Given the description of an element on the screen output the (x, y) to click on. 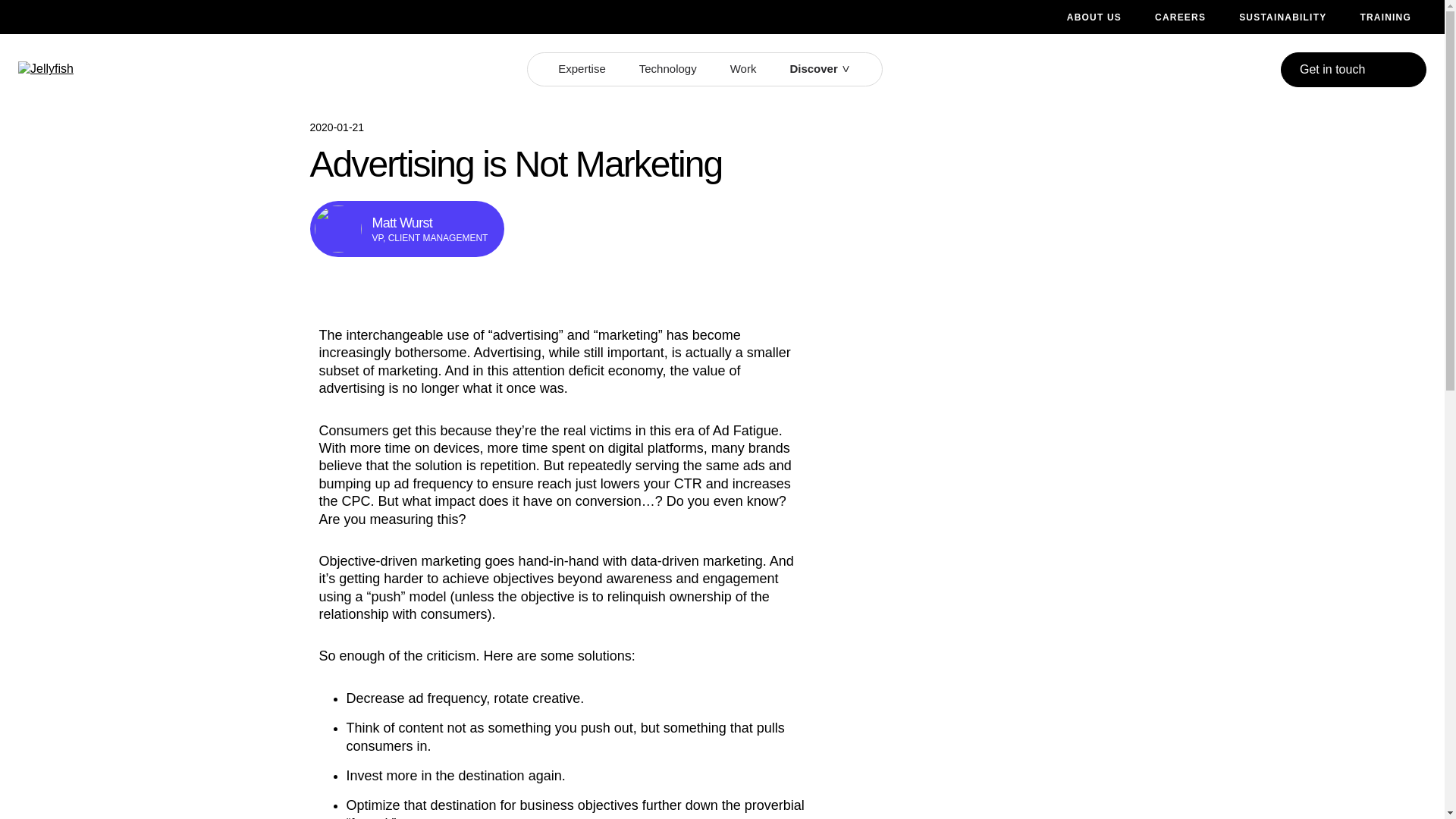
Technology (668, 69)
Work (743, 69)
Get in touch (1353, 69)
TRAINING (1384, 18)
SUSTAINABILITY (1282, 18)
ABOUT US (1094, 18)
Discover (813, 69)
CAREERS (1179, 18)
Expertise (581, 69)
